Given the description of an element on the screen output the (x, y) to click on. 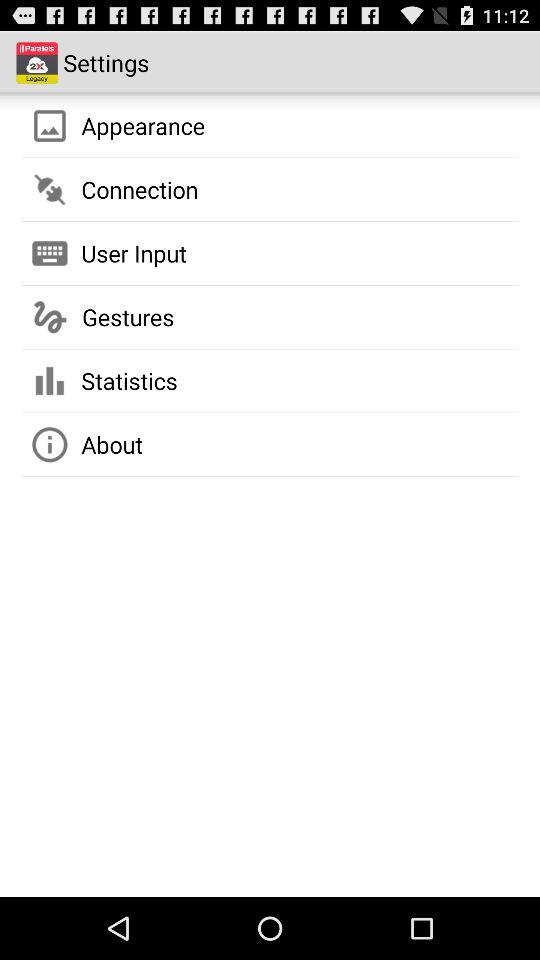
press the app above connection item (143, 125)
